Given the description of an element on the screen output the (x, y) to click on. 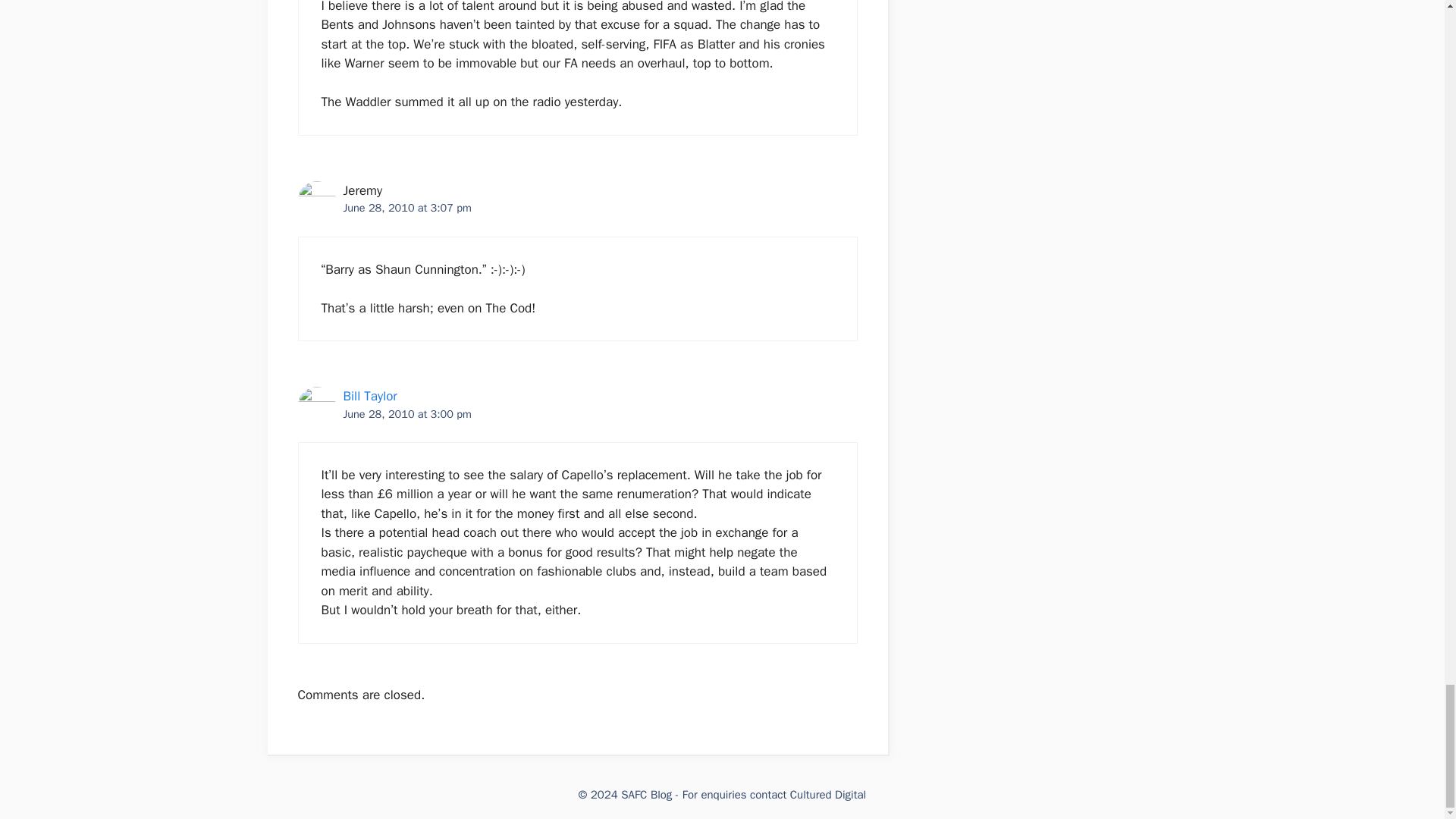
June 28, 2010 at 3:07 pm (406, 207)
June 28, 2010 at 3:00 pm (406, 413)
Bill Taylor (369, 396)
